Given the description of an element on the screen output the (x, y) to click on. 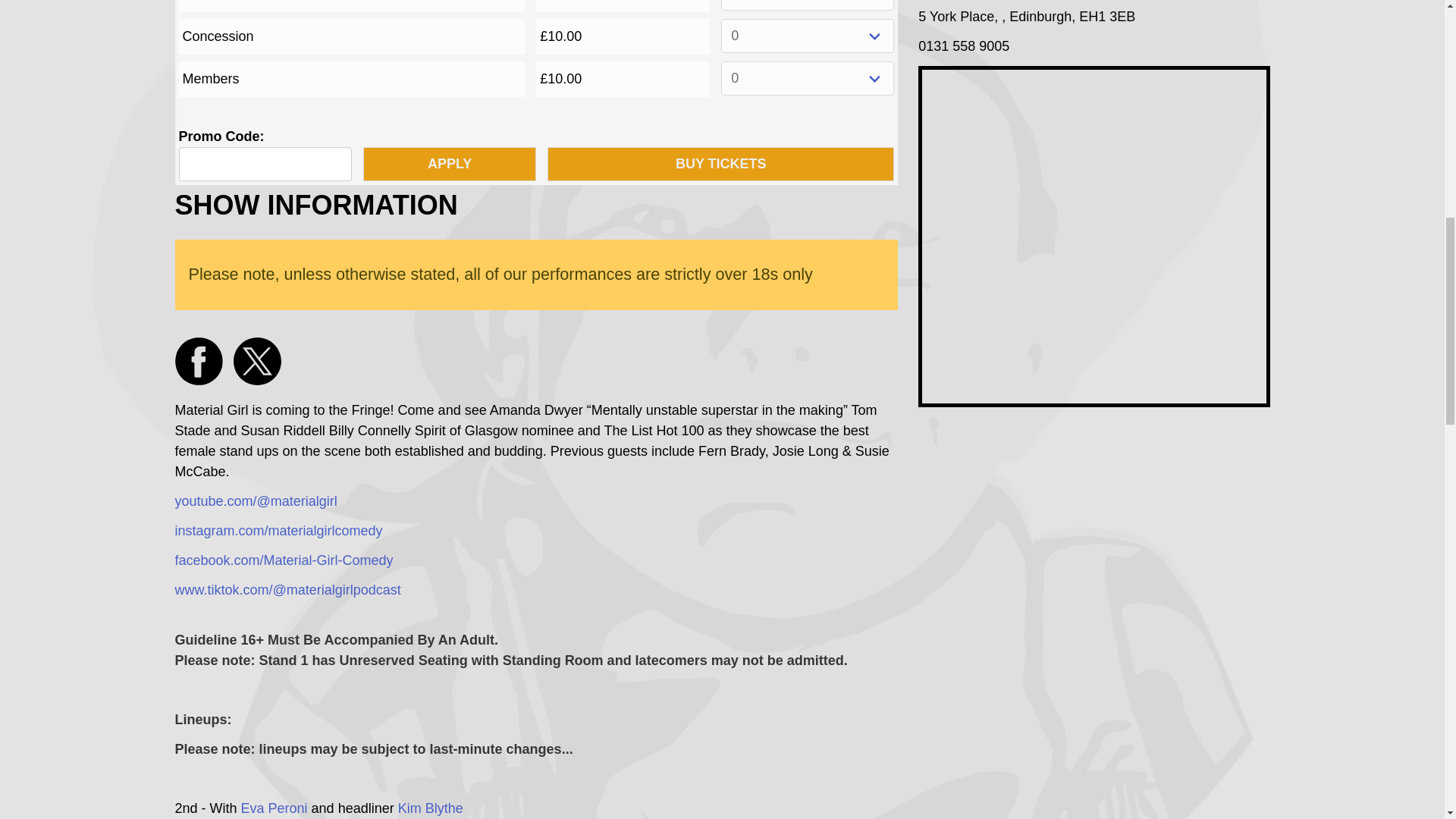
Kim Blythe (430, 807)
APPLY (448, 163)
Eva Peroni (274, 807)
BUY TICKETS (720, 163)
